Given the description of an element on the screen output the (x, y) to click on. 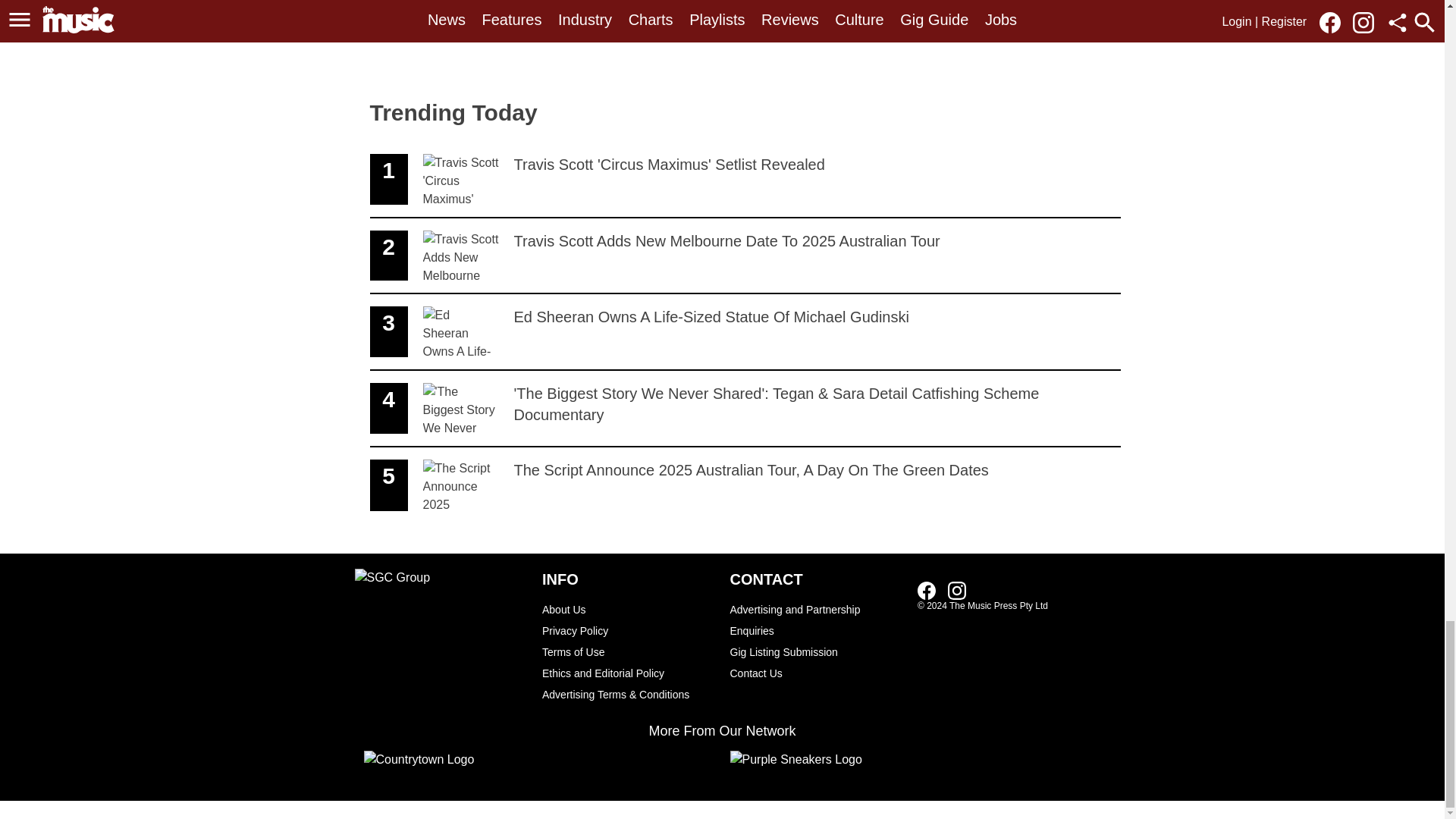
About Us (627, 608)
Link to our Facebook (930, 589)
Advertising and Partnership Enquiries (815, 619)
Link to our Facebook (745, 179)
Gig Listing Submission (926, 590)
Terms of Use (815, 651)
Spotify Embed: The Fear of Fear (627, 651)
Contact Us (588, 36)
Ethics and Editorial Policy (815, 672)
Privacy Policy (627, 672)
Link to our Instagram (745, 332)
